Given the description of an element on the screen output the (x, y) to click on. 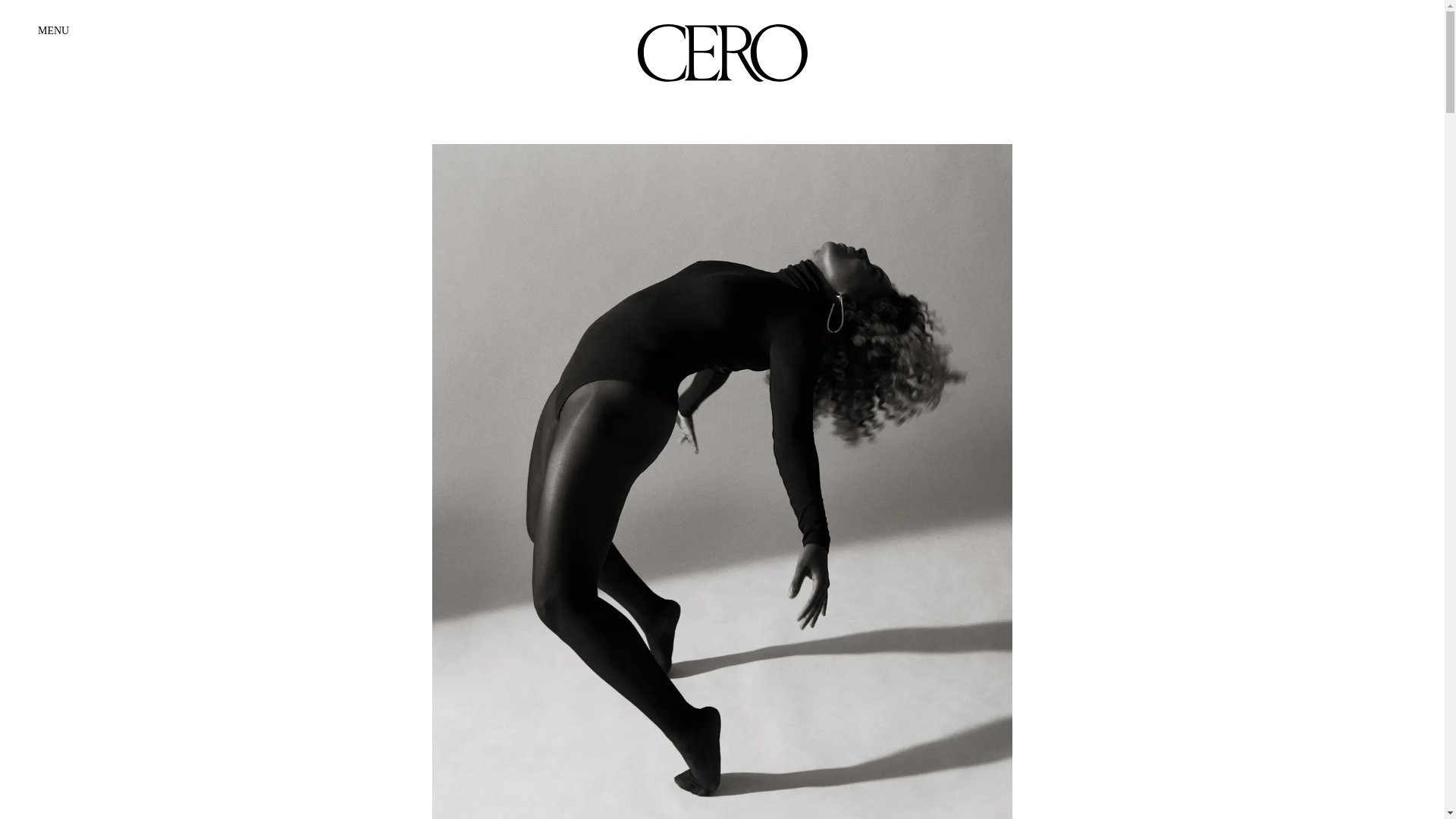
MENU (52, 30)
